Given the description of an element on the screen output the (x, y) to click on. 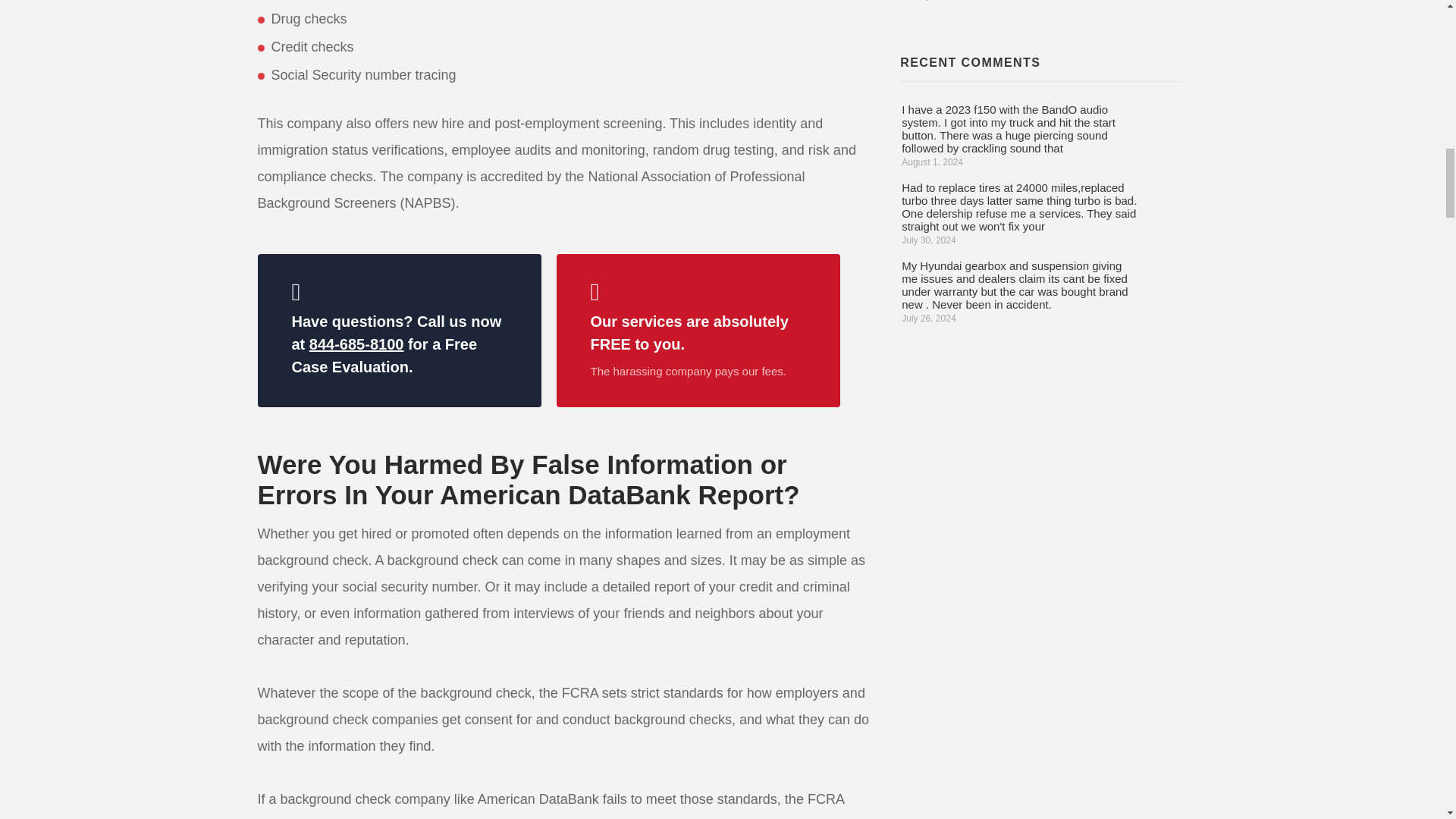
844-685-8100 (356, 343)
